Given the description of an element on the screen output the (x, y) to click on. 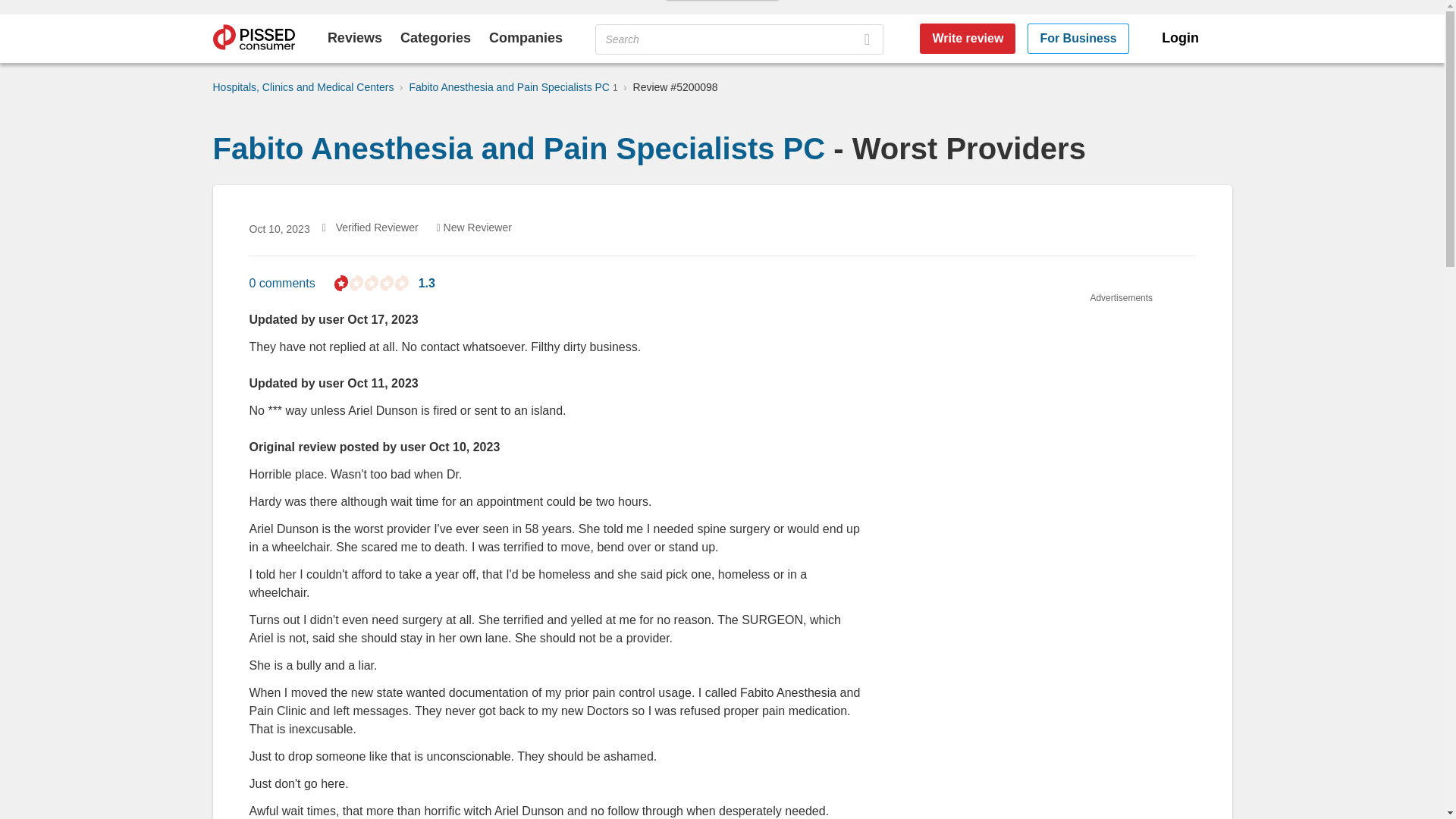
Write review (967, 38)
Fabito Anesthesia and Pain Specialists PC (518, 148)
Companies (525, 37)
PissedConsumer (253, 38)
For Business (1077, 38)
Categories (435, 37)
Reviews (354, 37)
Fabito Anesthesia and Pain Specialists PC (510, 87)
Hospitals, Clinics and Medical Centers (302, 87)
